Given the description of an element on the screen output the (x, y) to click on. 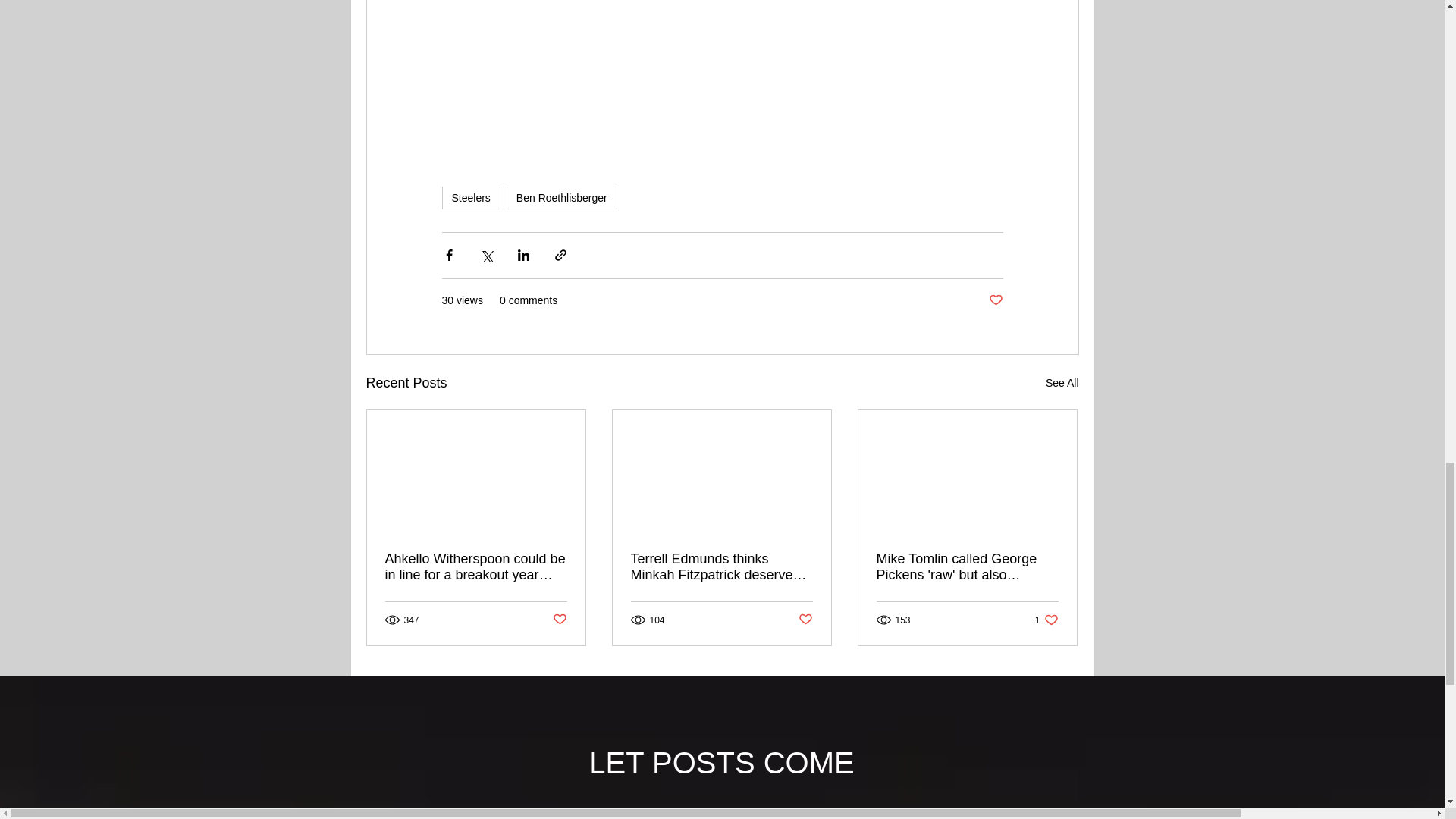
Post not marked as liked (1046, 619)
Steelers (804, 619)
Post not marked as liked (470, 197)
Ben Roethlisberger (558, 619)
Post not marked as liked (561, 197)
See All (995, 300)
